Given the description of an element on the screen output the (x, y) to click on. 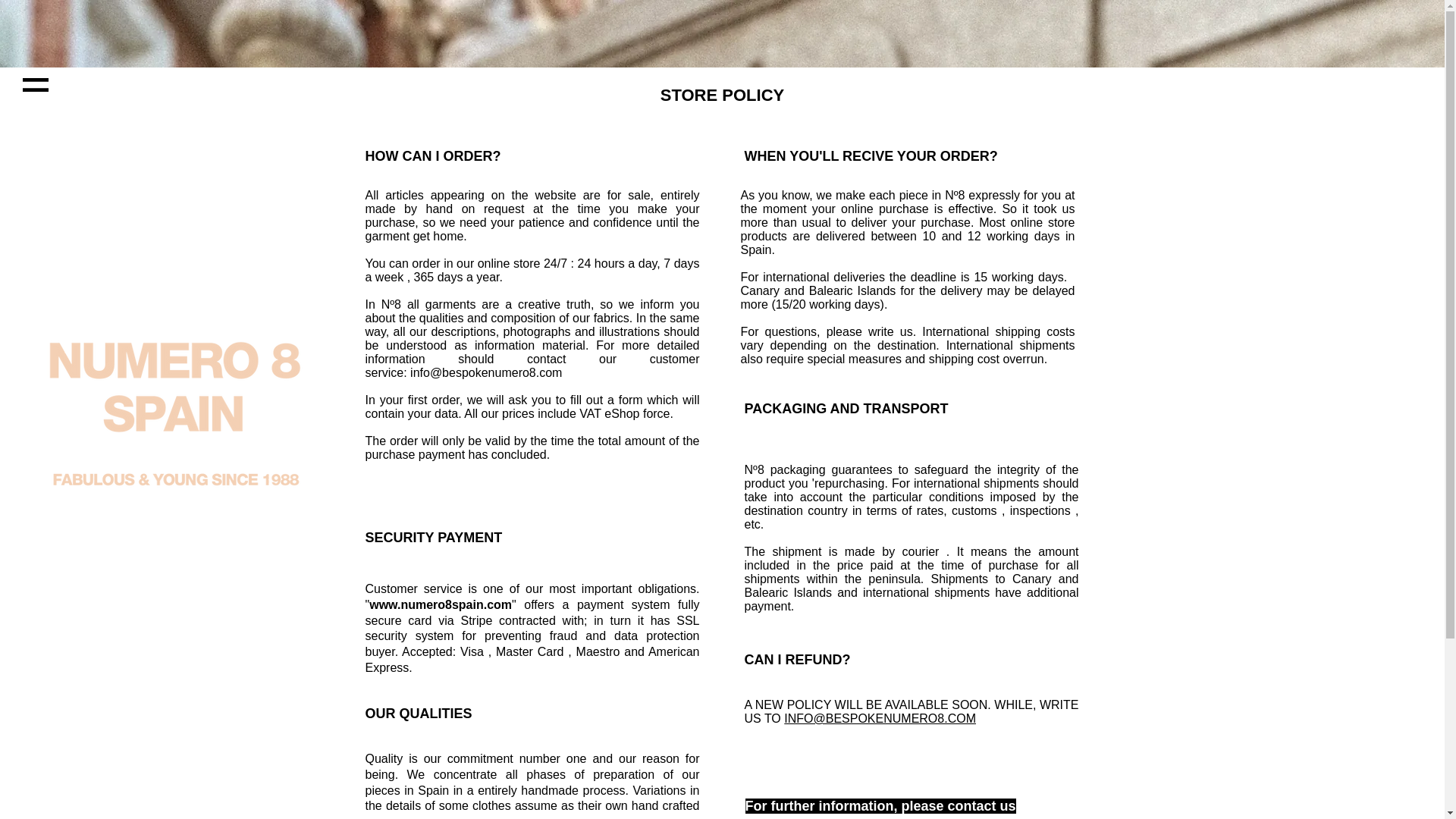
www.numero8spain.com (440, 604)
